Given the description of an element on the screen output the (x, y) to click on. 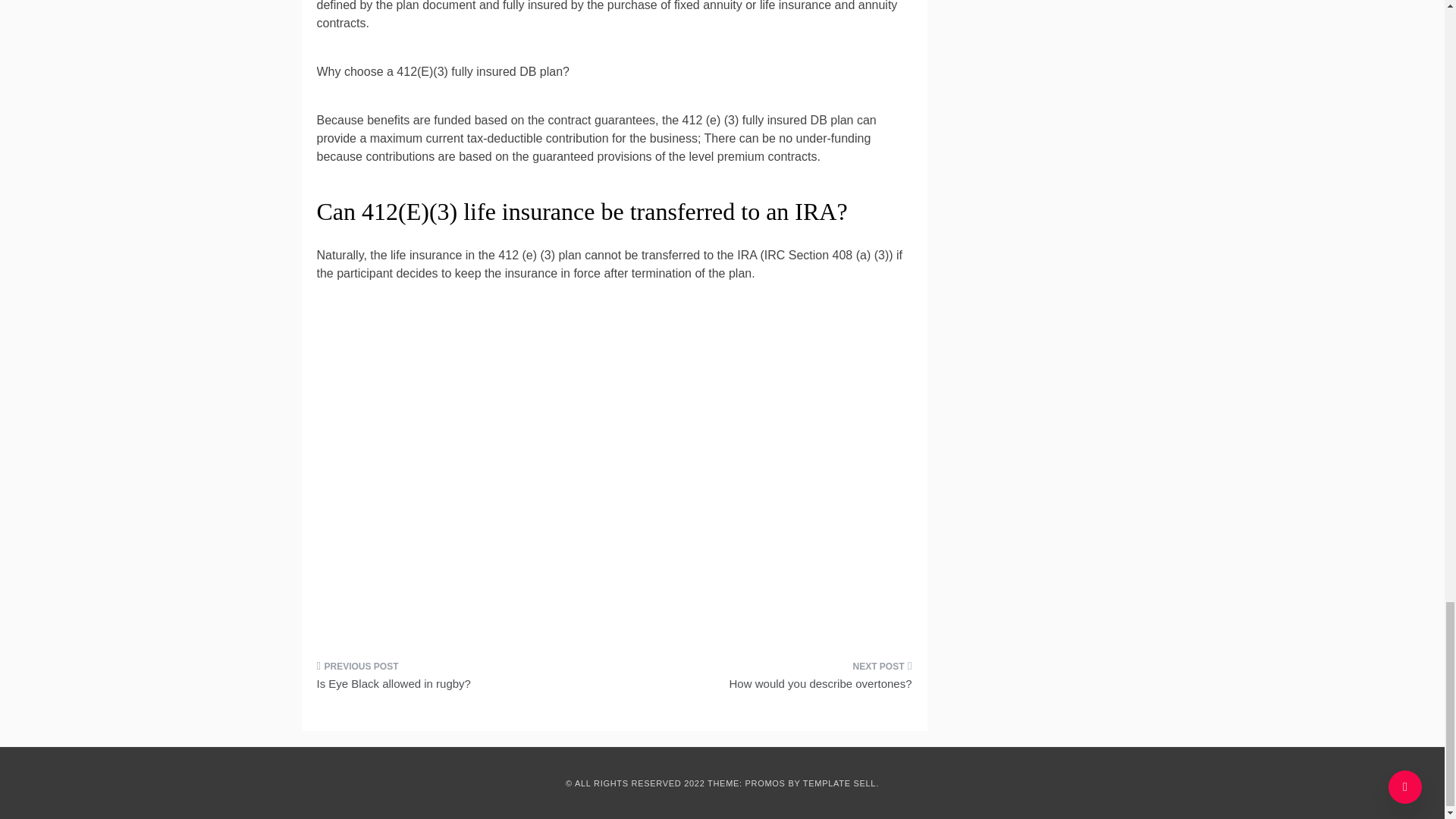
TEMPLATE SELL (839, 782)
Is Eye Black allowed in rugby? (460, 680)
How would you describe overtones? (769, 680)
